Given the description of an element on the screen output the (x, y) to click on. 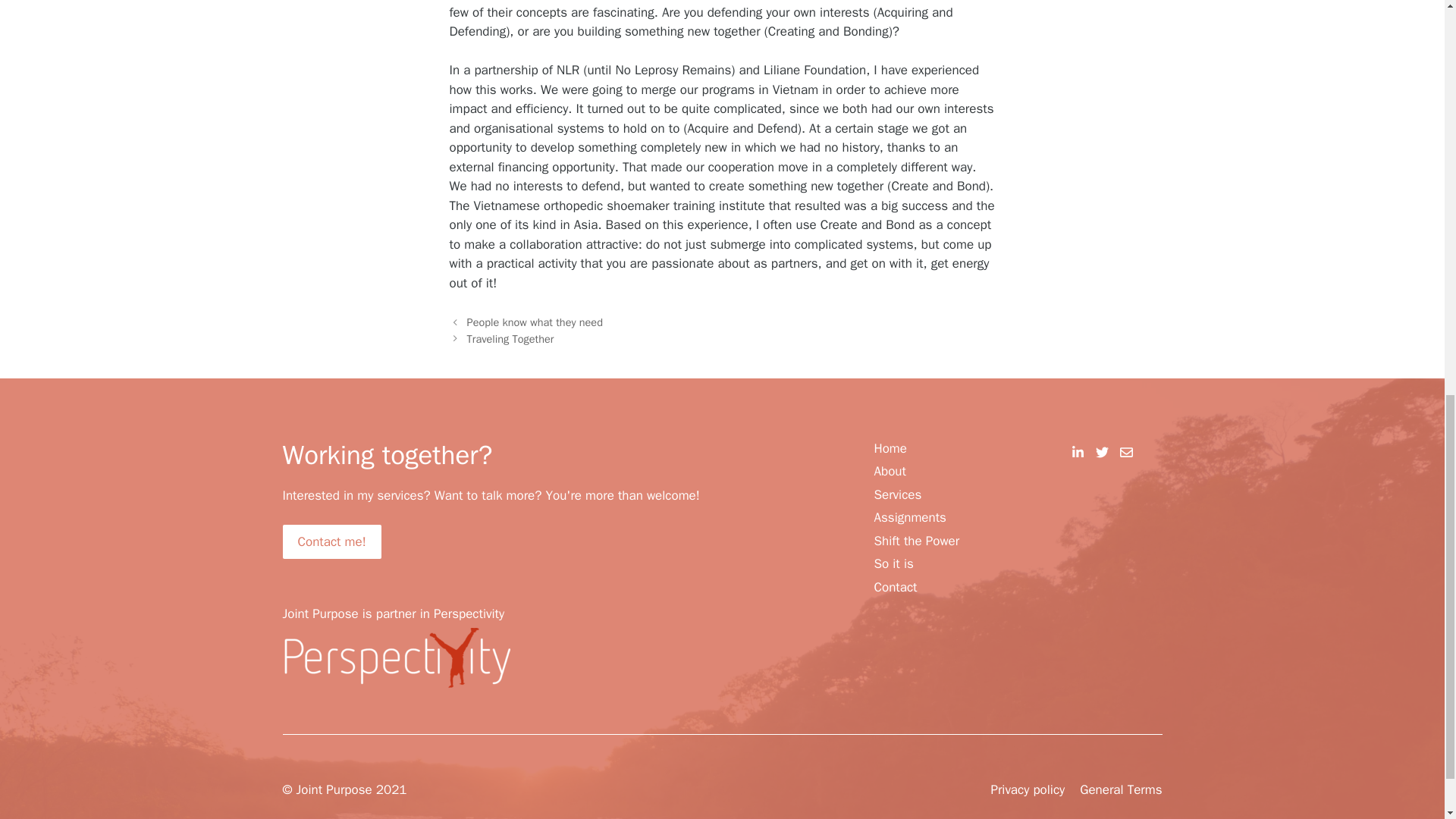
General Terms (1120, 790)
Contact (895, 587)
People know what they need (534, 322)
Traveling Together (510, 338)
Assignments (908, 517)
Services (897, 495)
About (889, 471)
So it is (892, 564)
Home (889, 447)
Privacy policy (1027, 790)
